Given the description of an element on the screen output the (x, y) to click on. 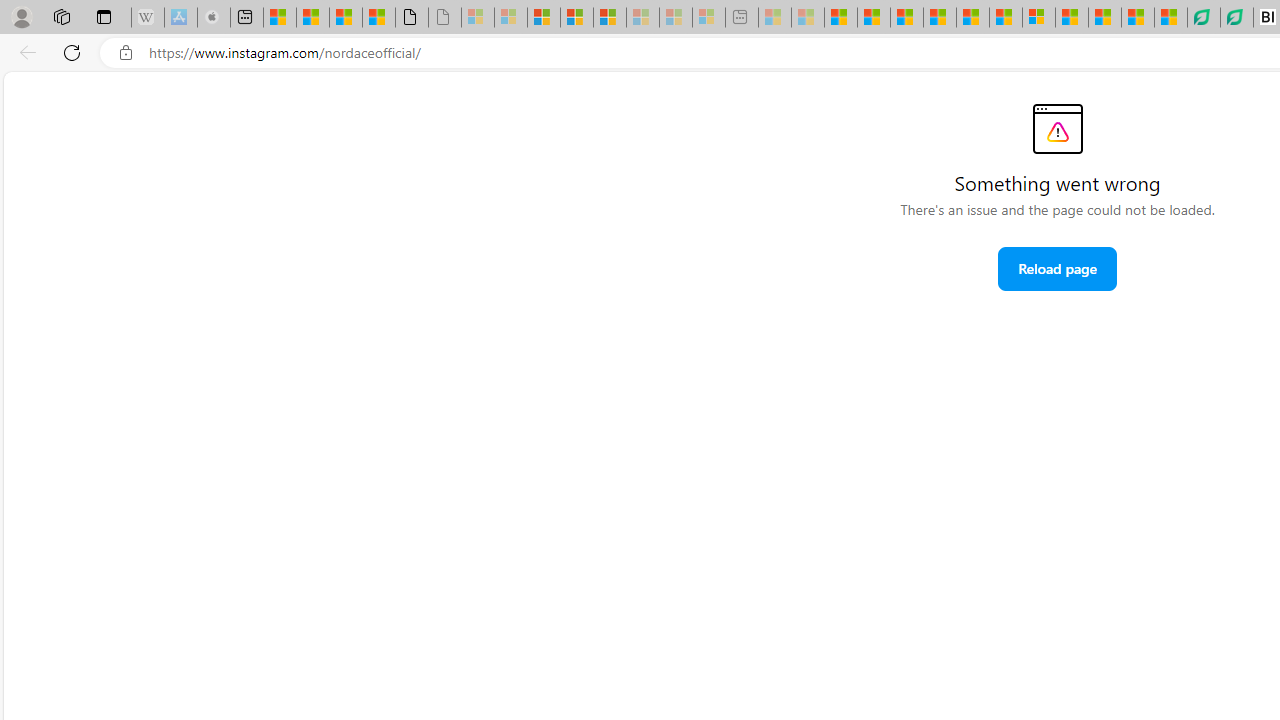
Marine life - MSN - Sleeping (808, 17)
LendingTree - Compare Lenders (1237, 17)
Foo BAR | Trusted Community Engagement and Contributions (1005, 17)
New tab - Sleeping (741, 17)
Microsoft account | Account Checkup - Sleeping (708, 17)
Food and Drink - MSN (873, 17)
Top Stories - MSN - Sleeping (775, 17)
